Given the description of an element on the screen output the (x, y) to click on. 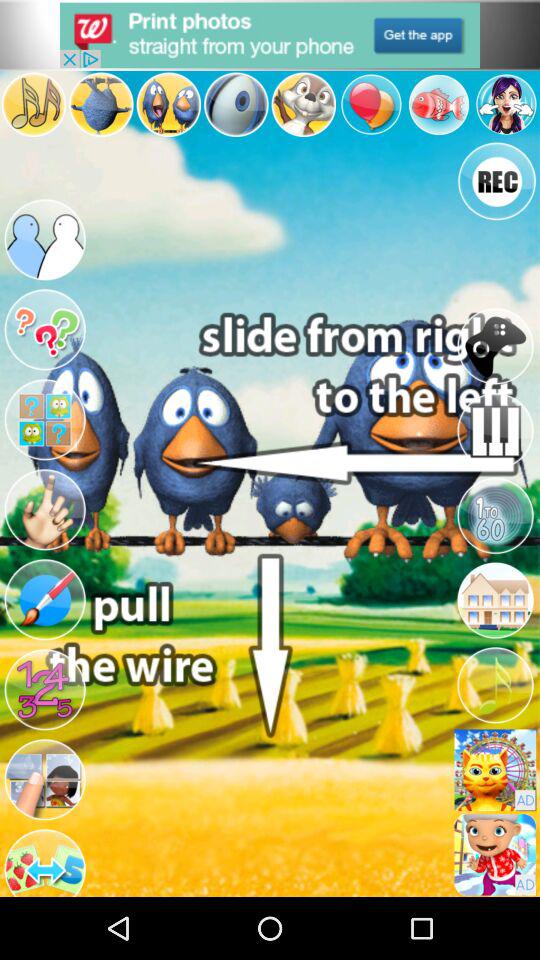
advertisement (270, 35)
